Given the description of an element on the screen output the (x, y) to click on. 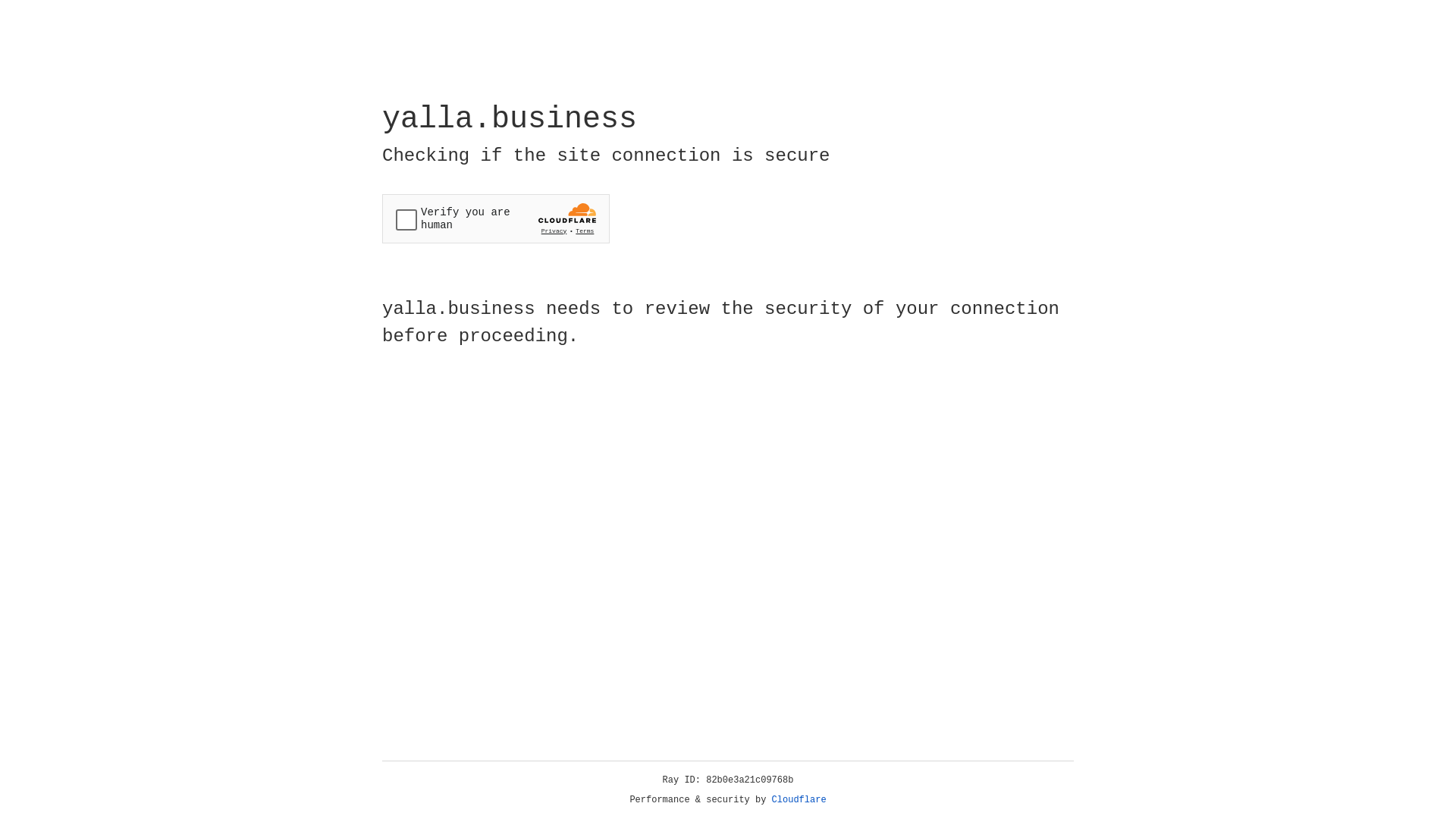
Cloudflare Element type: text (798, 799)
Widget containing a Cloudflare security challenge Element type: hover (495, 218)
